Given the description of an element on the screen output the (x, y) to click on. 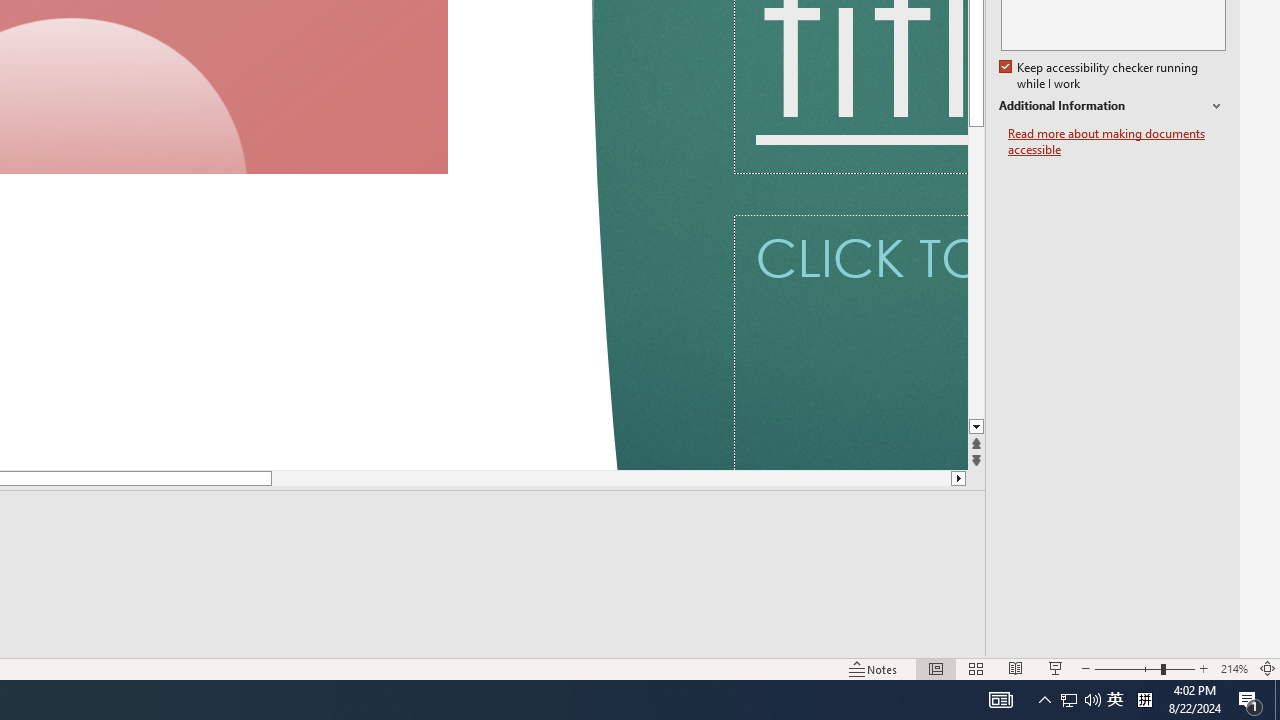
Zoom 214% (1234, 668)
